Given the description of an element on the screen output the (x, y) to click on. 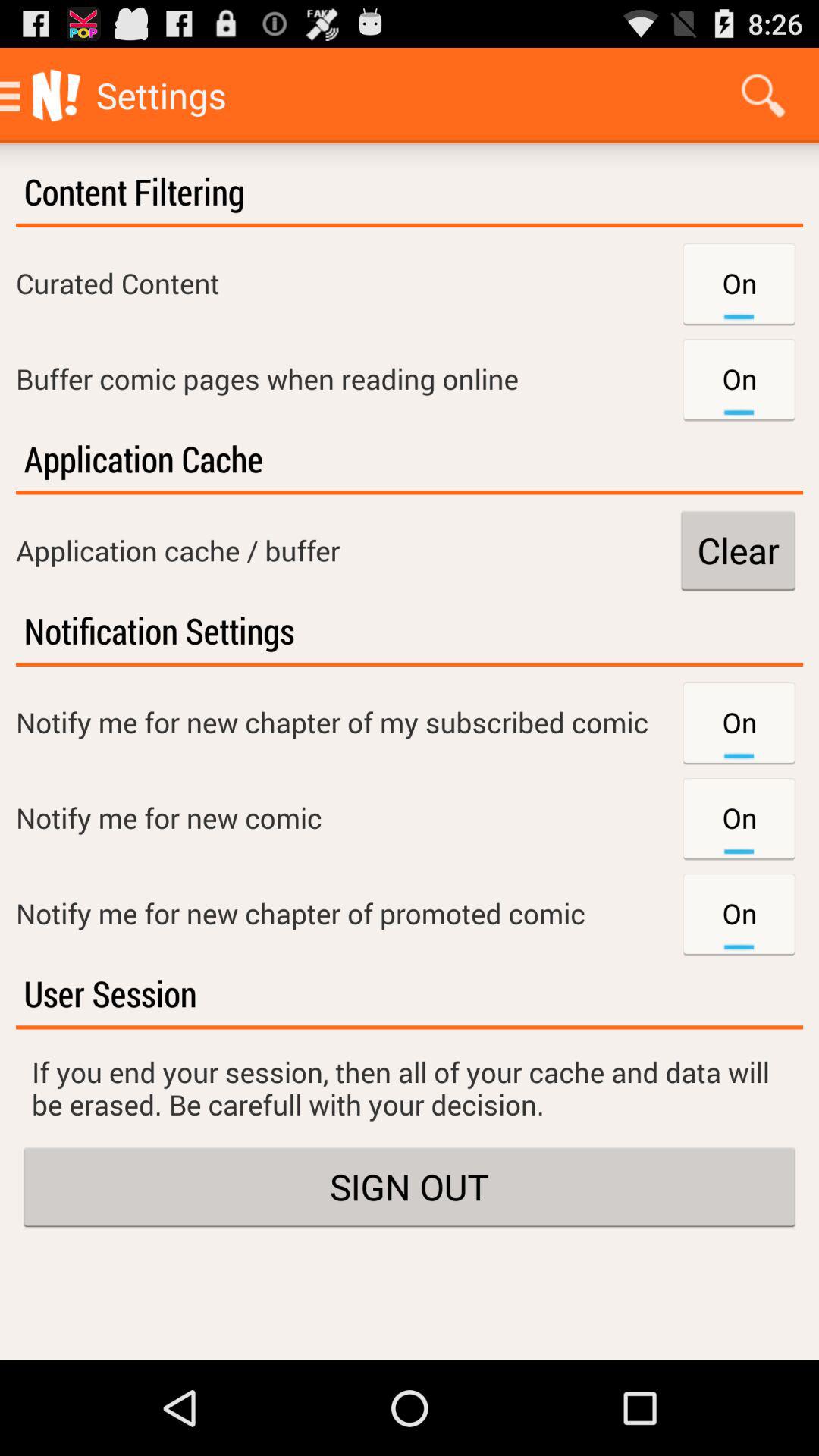
turn off icon next to application cache / buffer (738, 550)
